Given the description of an element on the screen output the (x, y) to click on. 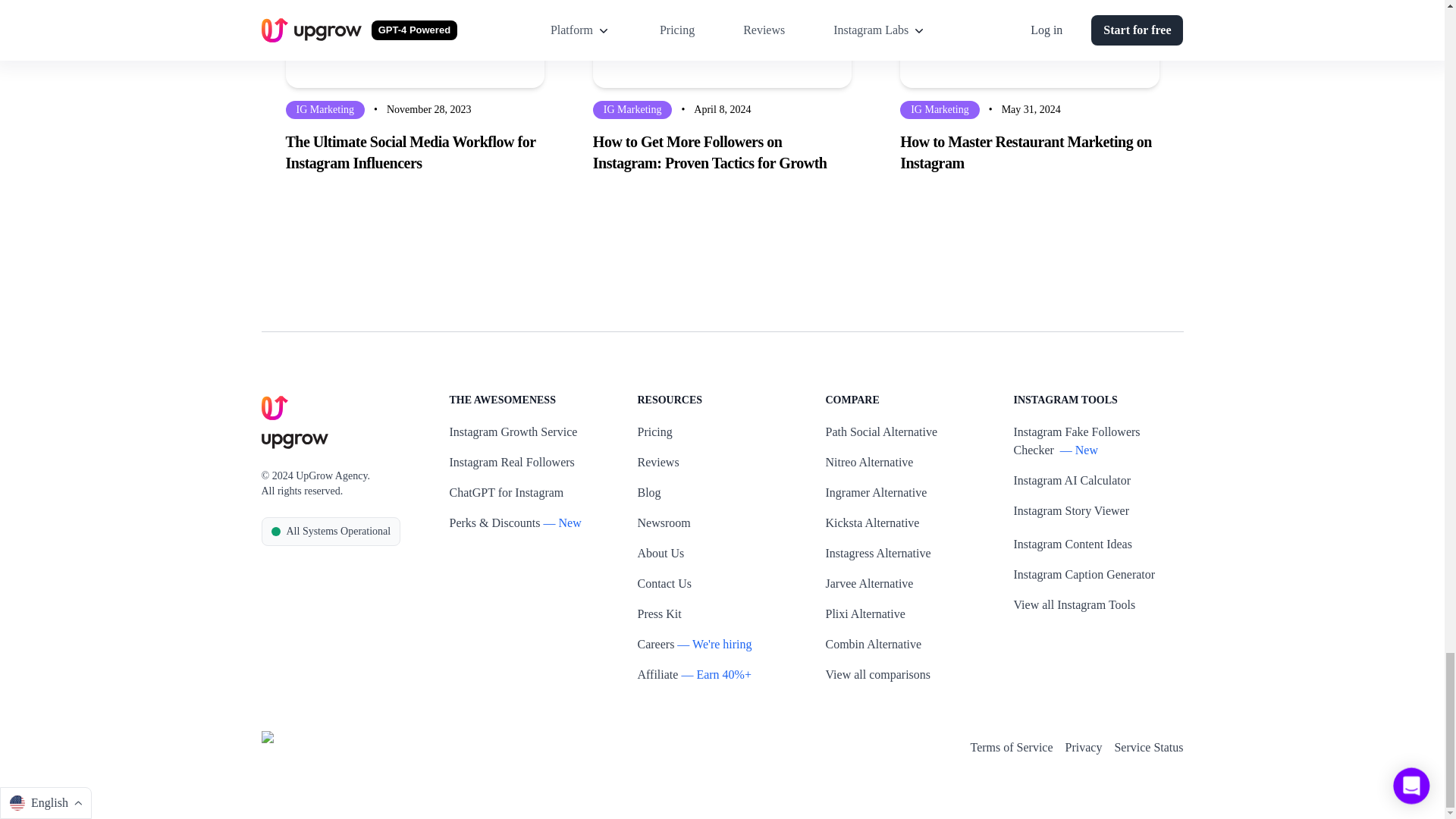
ChatGPT for Instagram (505, 493)
Payment options logos (389, 743)
Blog (649, 493)
IG Marketing (632, 108)
UpGrow's Careers Page (655, 644)
UpGrow's Press Kit (659, 614)
UpGrow logo text (294, 441)
Instagram Real Followers (510, 462)
UpGrow logo icon (274, 407)
Reviews (657, 462)
IG Marketing (325, 108)
All Systems Operational (331, 531)
IG Marketing (939, 108)
Pricing (654, 432)
